Given the description of an element on the screen output the (x, y) to click on. 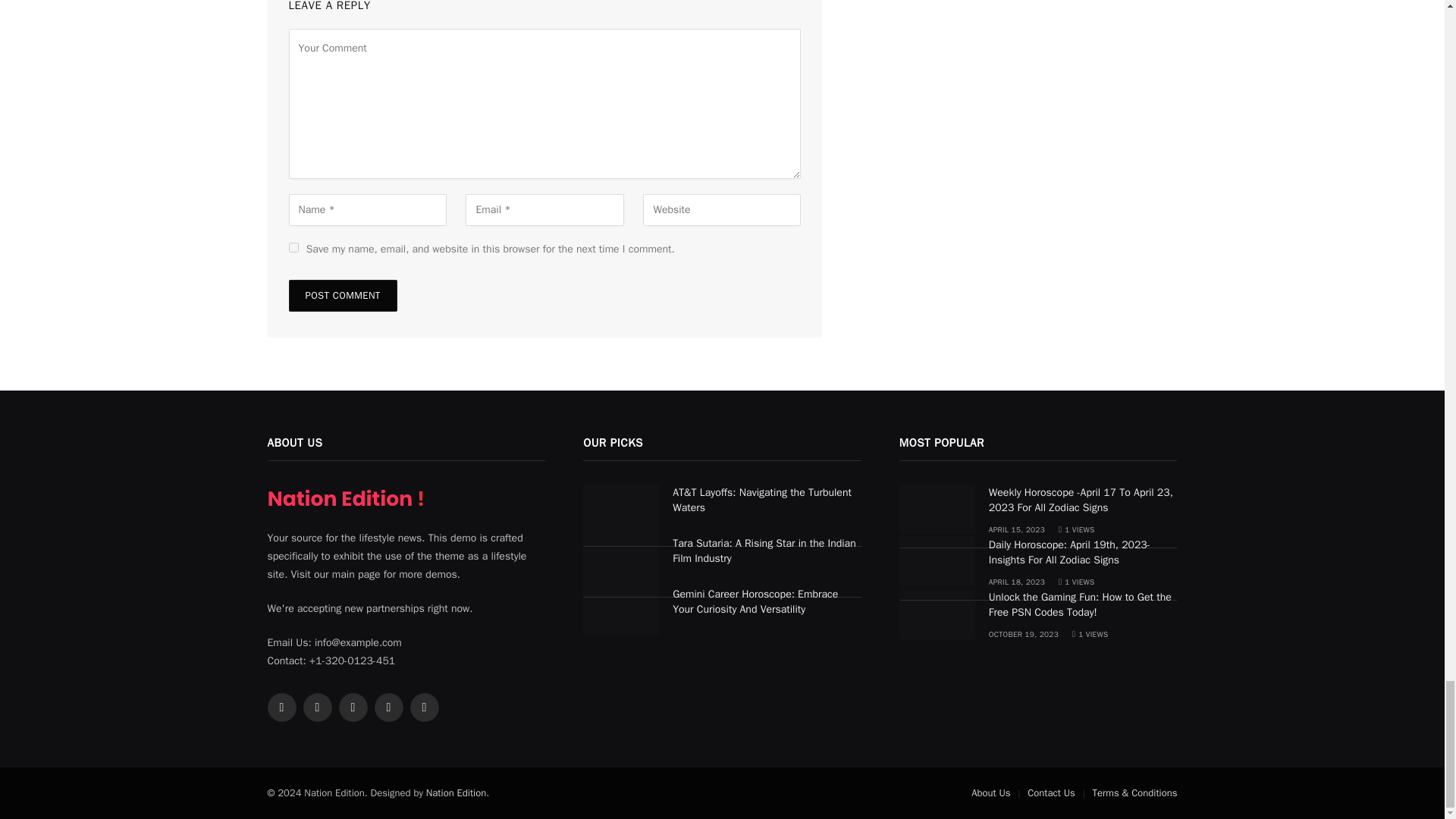
yes (293, 247)
Post Comment (342, 296)
